Given the description of an element on the screen output the (x, y) to click on. 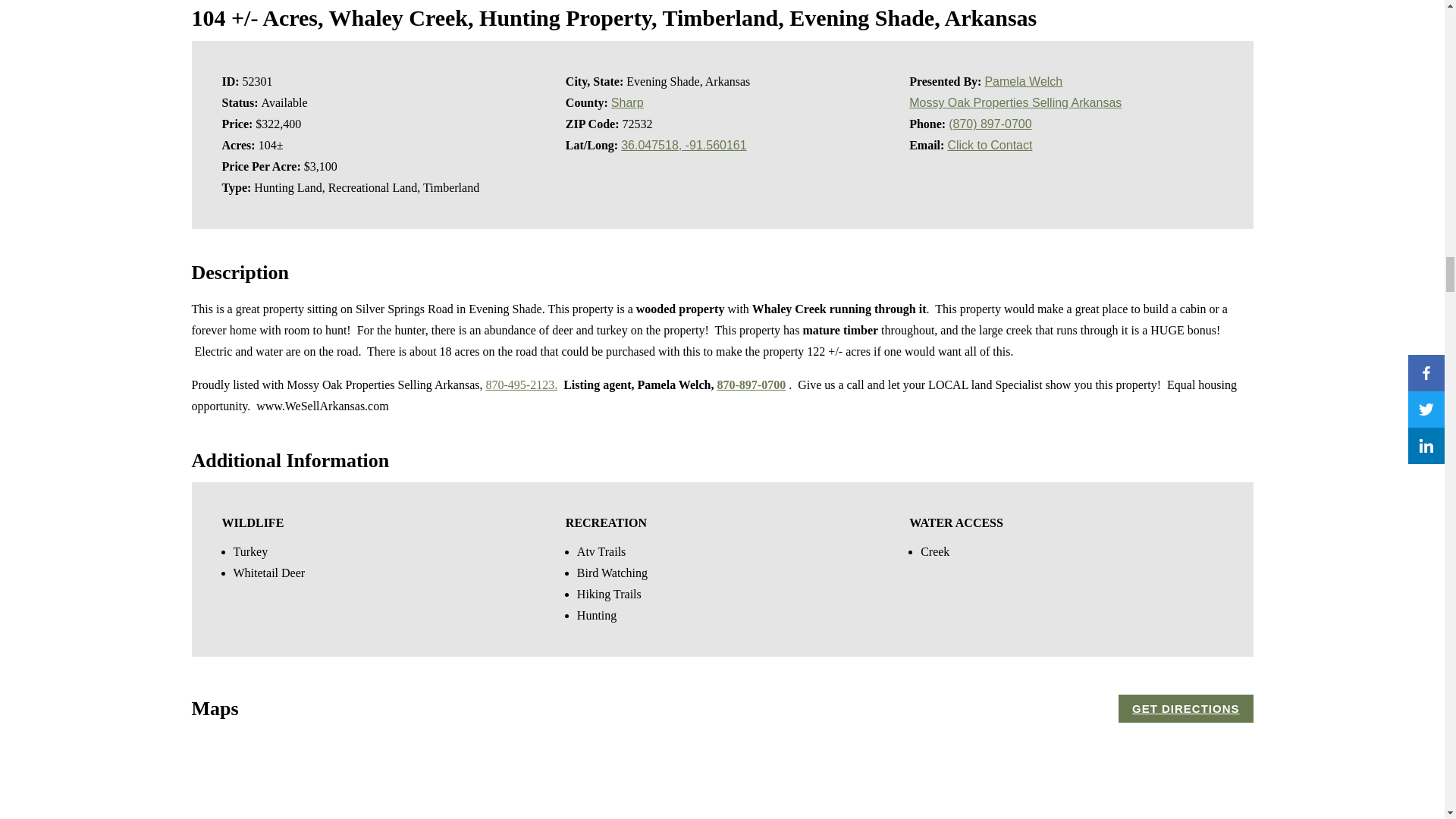
Click to Contact (989, 144)
36.047518, -91.560161 (683, 144)
870-495-2123. (520, 384)
Pamela Welch (1023, 81)
Pamela Welch (1023, 81)
Mossy Oak Properties Selling Arkansas (1014, 102)
Sharp County, AR (627, 102)
Mossy Oak Properties Selling Arkansas (1014, 102)
Sharp (627, 102)
